Given the description of an element on the screen output the (x, y) to click on. 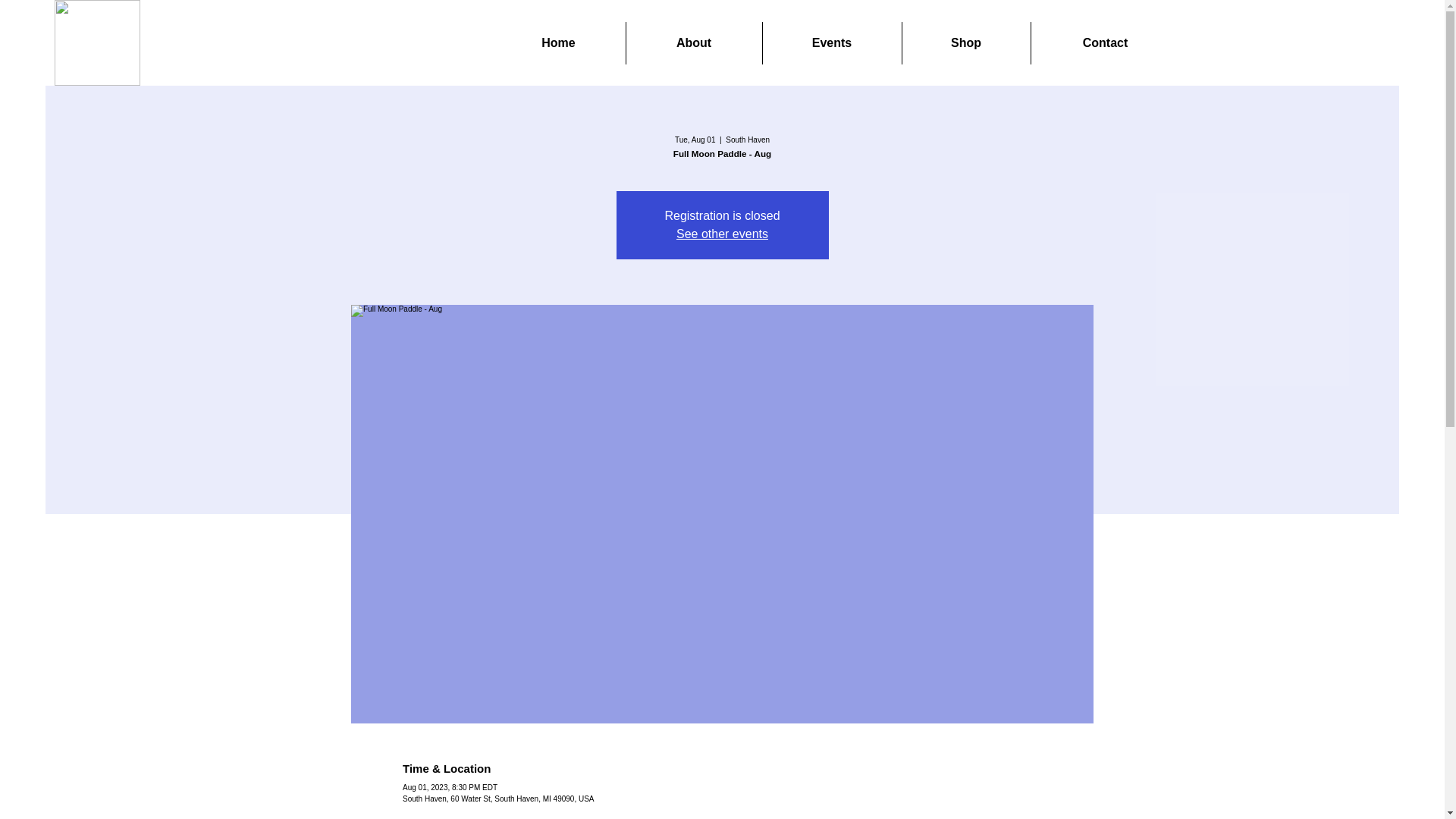
Shop (966, 43)
Home (559, 43)
Events (831, 43)
See other events (722, 233)
Contact (1104, 43)
